Given the description of an element on the screen output the (x, y) to click on. 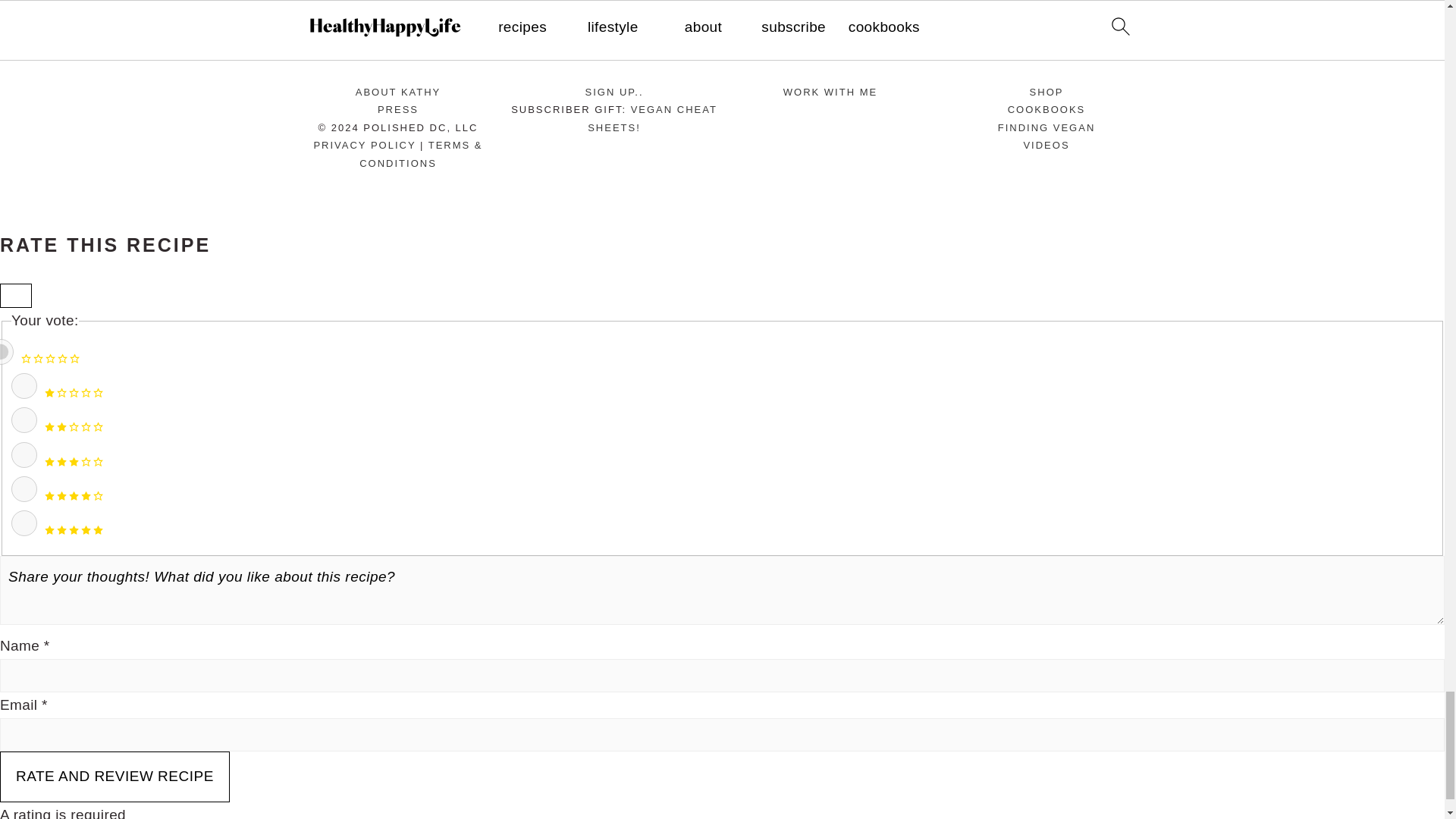
1 (24, 385)
3 (24, 454)
4 (24, 488)
5 (24, 523)
2 (24, 420)
